Given the description of an element on the screen output the (x, y) to click on. 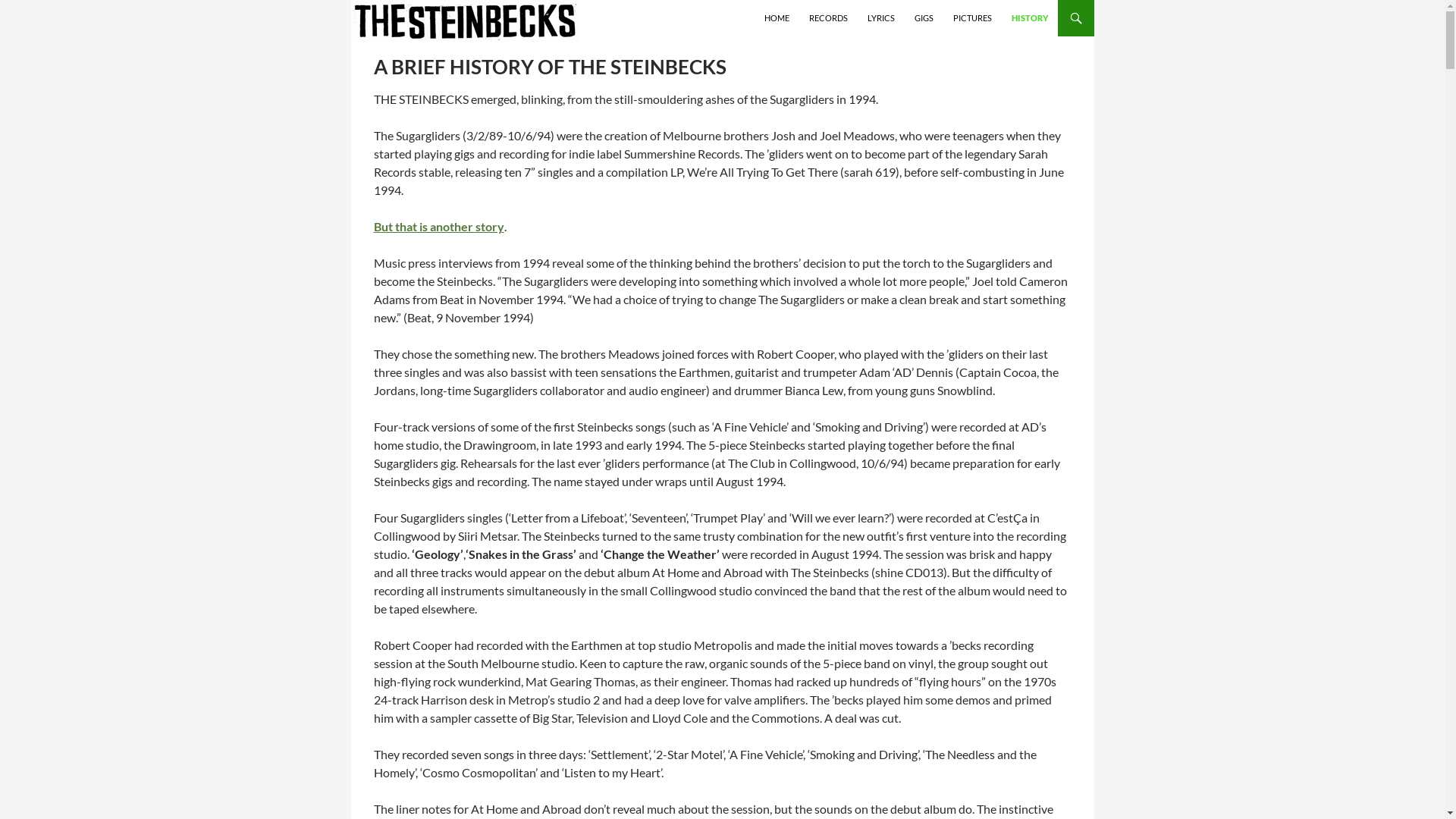
HISTORY Element type: text (1029, 18)
But that is another story Element type: text (438, 226)
RECORDS Element type: text (827, 18)
LYRICS Element type: text (880, 18)
HOME Element type: text (776, 18)
GIGS Element type: text (923, 18)
PICTURES Element type: text (971, 18)
